Given the description of an element on the screen output the (x, y) to click on. 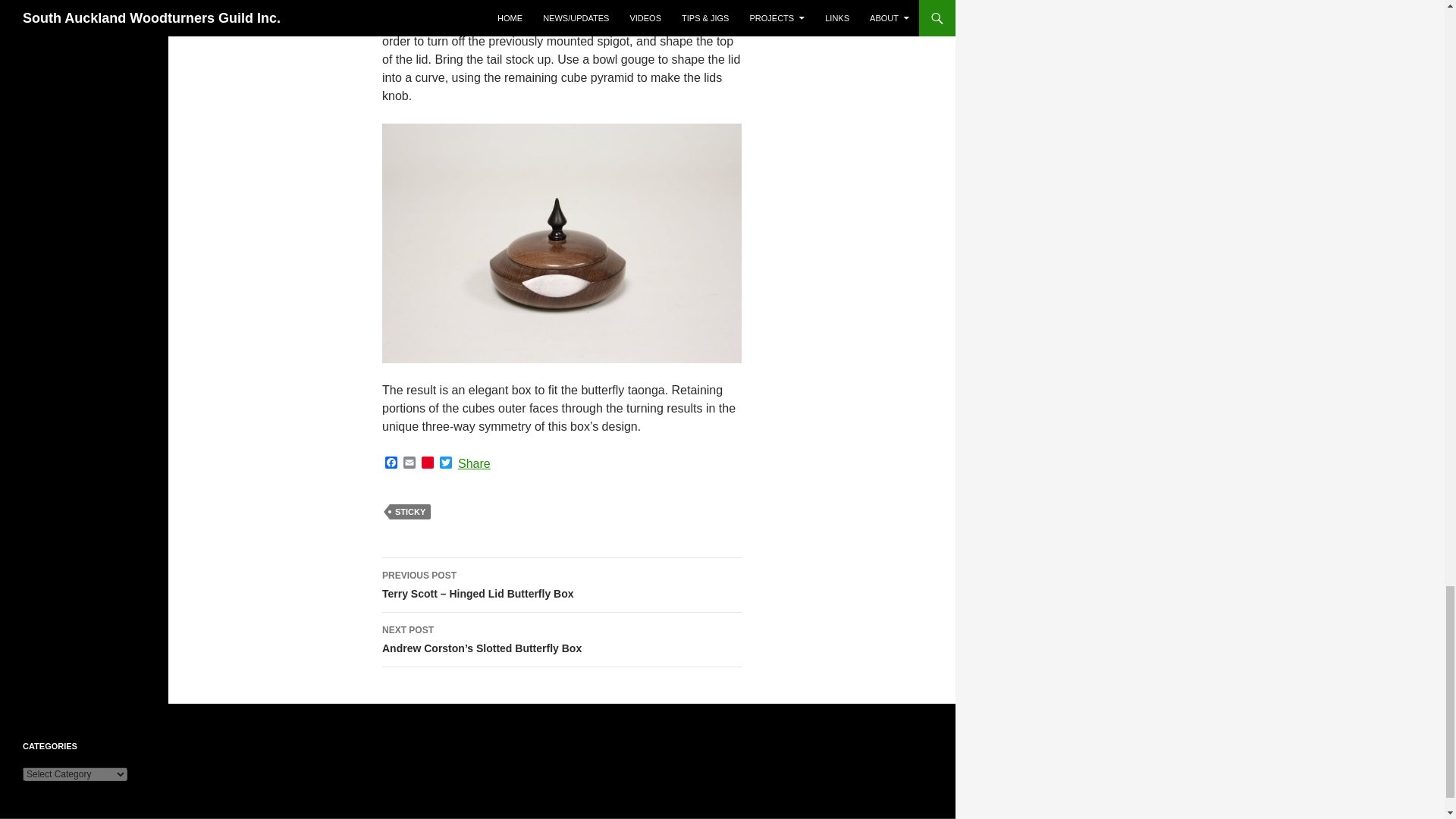
Twitter (445, 463)
Share (473, 463)
Twitter (445, 463)
Facebook (390, 463)
Email (409, 463)
STICKY (410, 511)
Pinterest (427, 463)
Email (409, 463)
Pinterest (427, 463)
Facebook (390, 463)
